Given the description of an element on the screen output the (x, y) to click on. 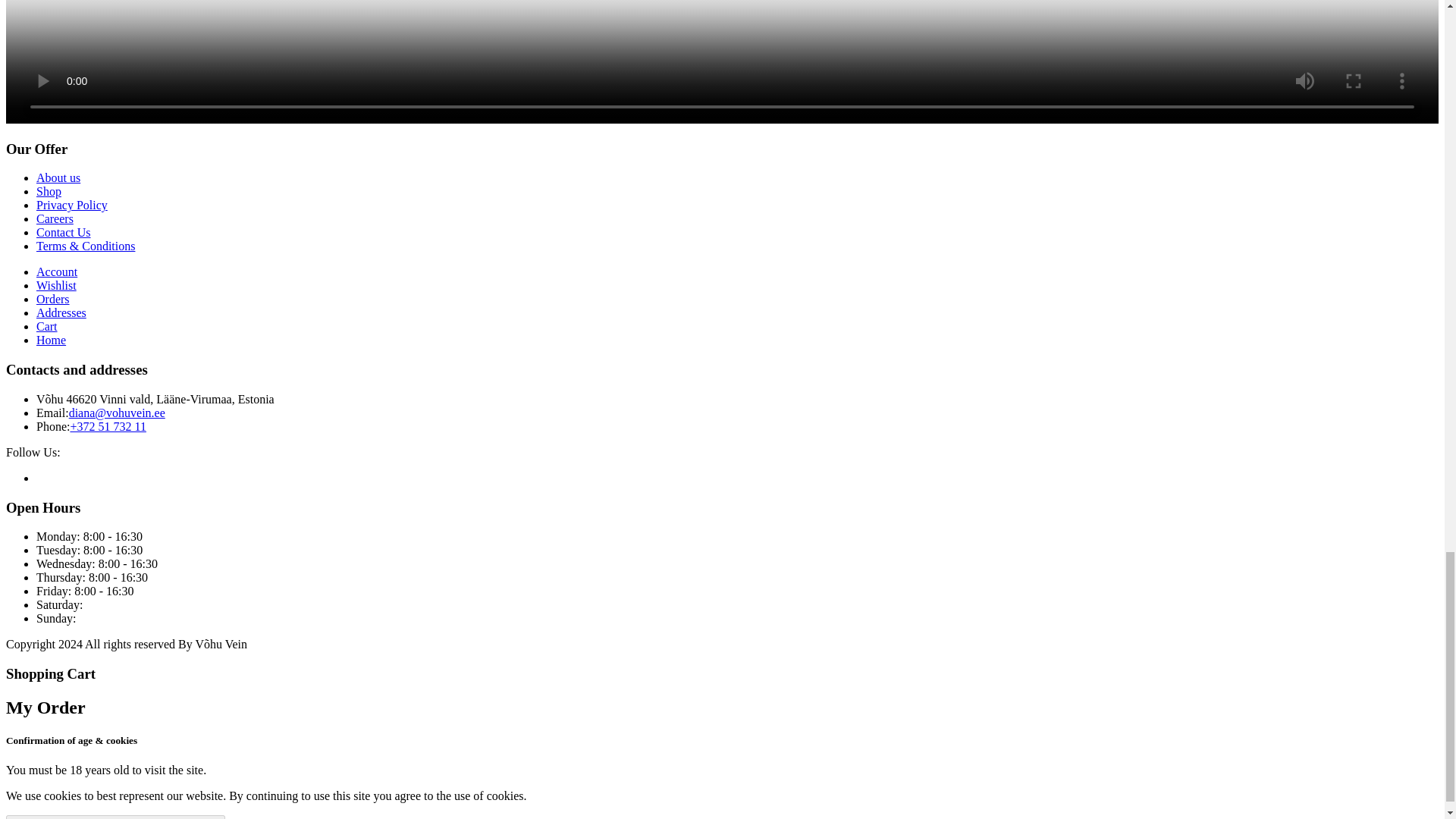
About us (58, 177)
Shop (48, 191)
